Given the description of an element on the screen output the (x, y) to click on. 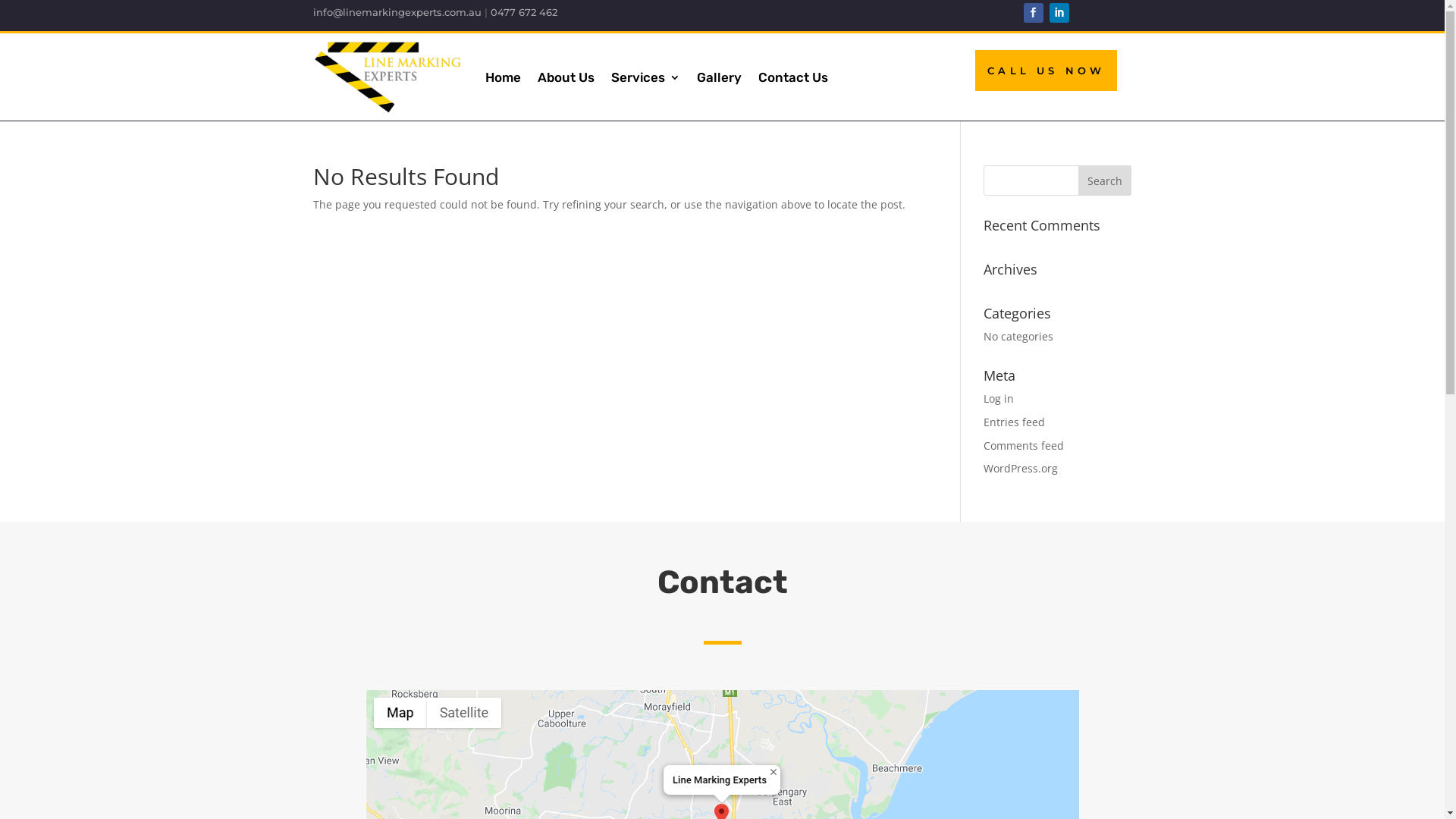
Follow on LinkedIn Element type: hover (1059, 12)
CALL US NOW Element type: text (1046, 70)
Log in Element type: text (998, 398)
Contact Us Element type: text (793, 76)
Follow on Facebook Element type: hover (1033, 12)
Comments feed Element type: text (1023, 445)
Entries feed Element type: text (1013, 421)
Gallery Element type: text (718, 76)
0477 672 462 Element type: text (522, 12)
Search Element type: text (1104, 180)
WordPress.org Element type: text (1020, 468)
About Us Element type: text (564, 76)
info@linemarkingexperts.com.au Element type: text (396, 12)
Home Element type: text (502, 76)
Services Element type: text (645, 76)
